Given the description of an element on the screen output the (x, y) to click on. 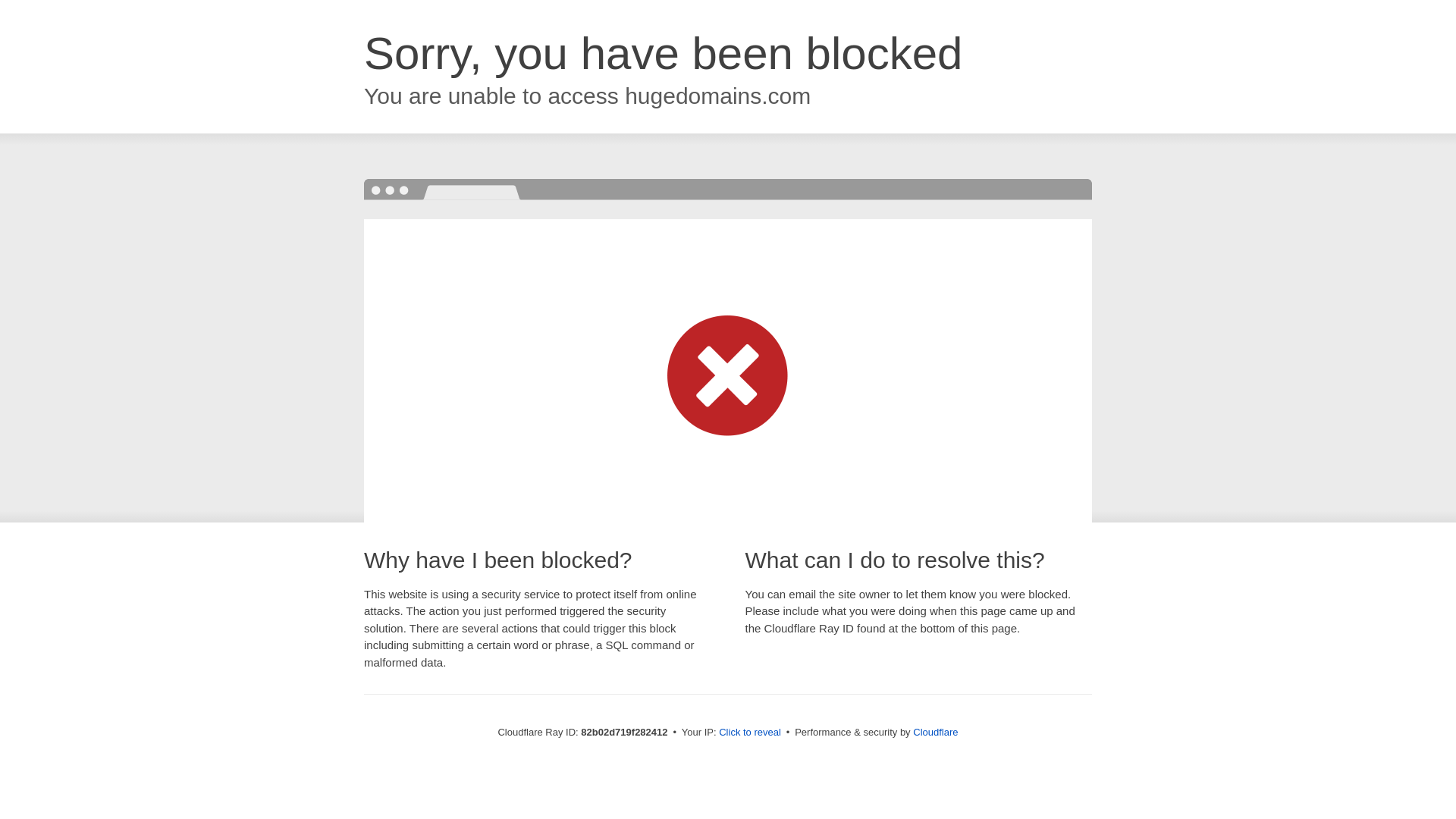
Click to reveal Element type: text (749, 732)
Cloudflare Element type: text (935, 731)
